Given the description of an element on the screen output the (x, y) to click on. 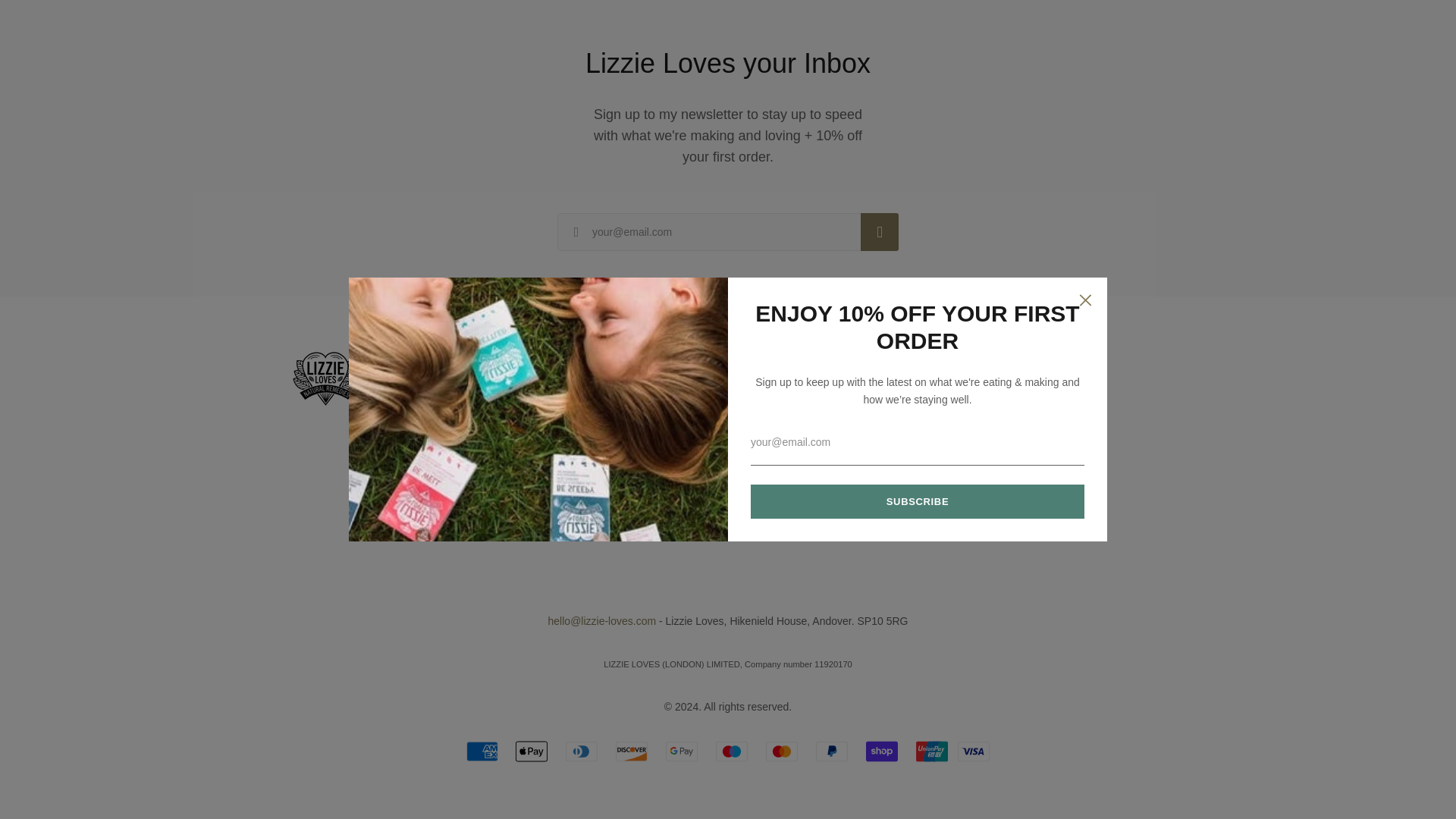
Visa (974, 751)
PayPal (831, 751)
Discover (631, 751)
Union Pay (931, 751)
Shop Pay (882, 751)
Diners Club (581, 751)
Google Pay (681, 751)
Apple Pay (531, 751)
Maestro (732, 751)
Mastercard (781, 751)
American Express (481, 751)
